Given the description of an element on the screen output the (x, y) to click on. 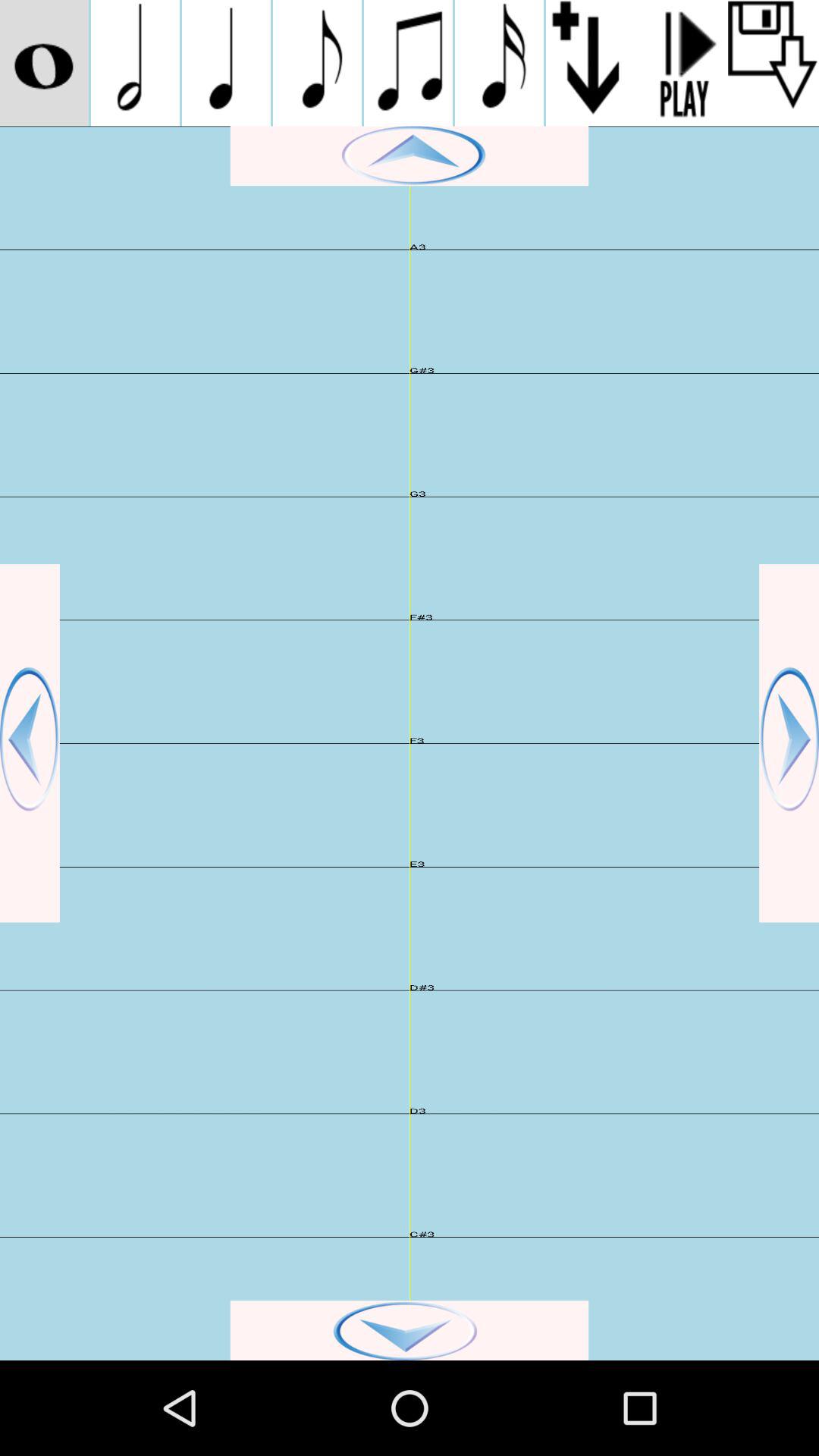
music (408, 63)
